Given the description of an element on the screen output the (x, y) to click on. 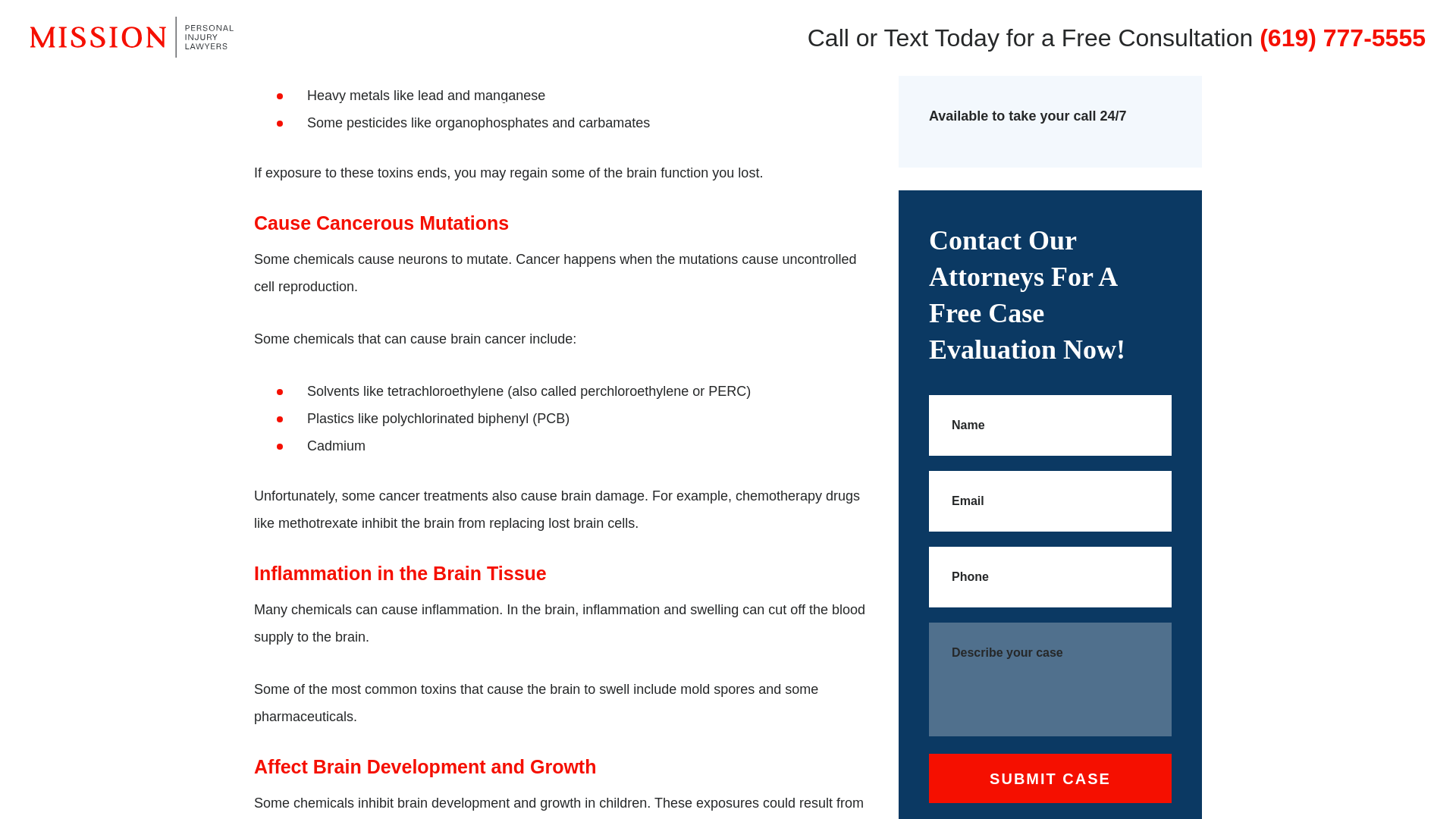
Submit Case (1050, 778)
